Given the description of an element on the screen output the (x, y) to click on. 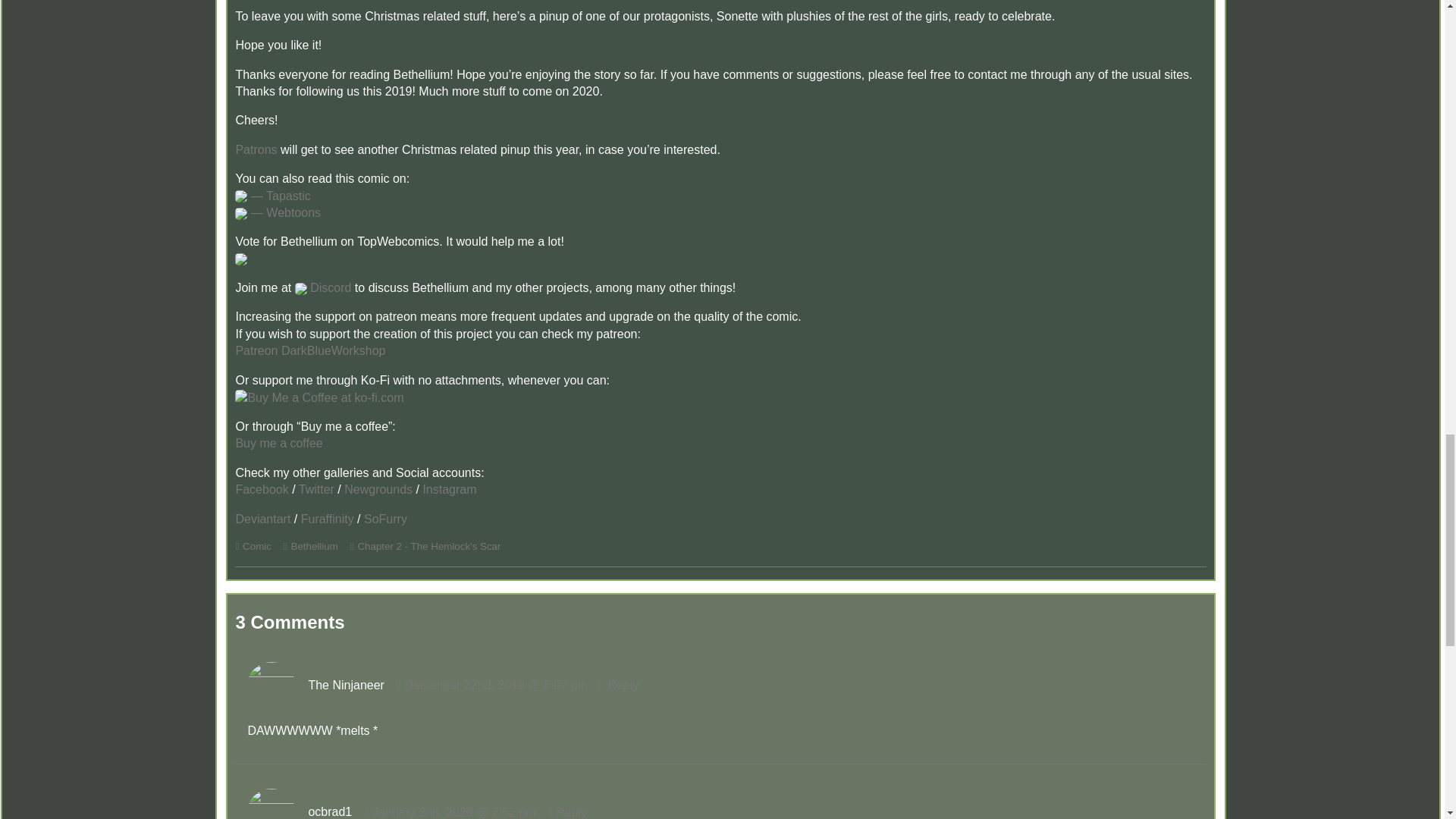
Facebook (261, 489)
Discord (323, 287)
Patrons (255, 149)
Twitter (316, 489)
Newgrounds (377, 489)
Buy me a coffee (277, 442)
Patreon DarkBlueWorkshop (309, 350)
Vote for Bethellium on TopWebComics! (240, 258)
